Given the description of an element on the screen output the (x, y) to click on. 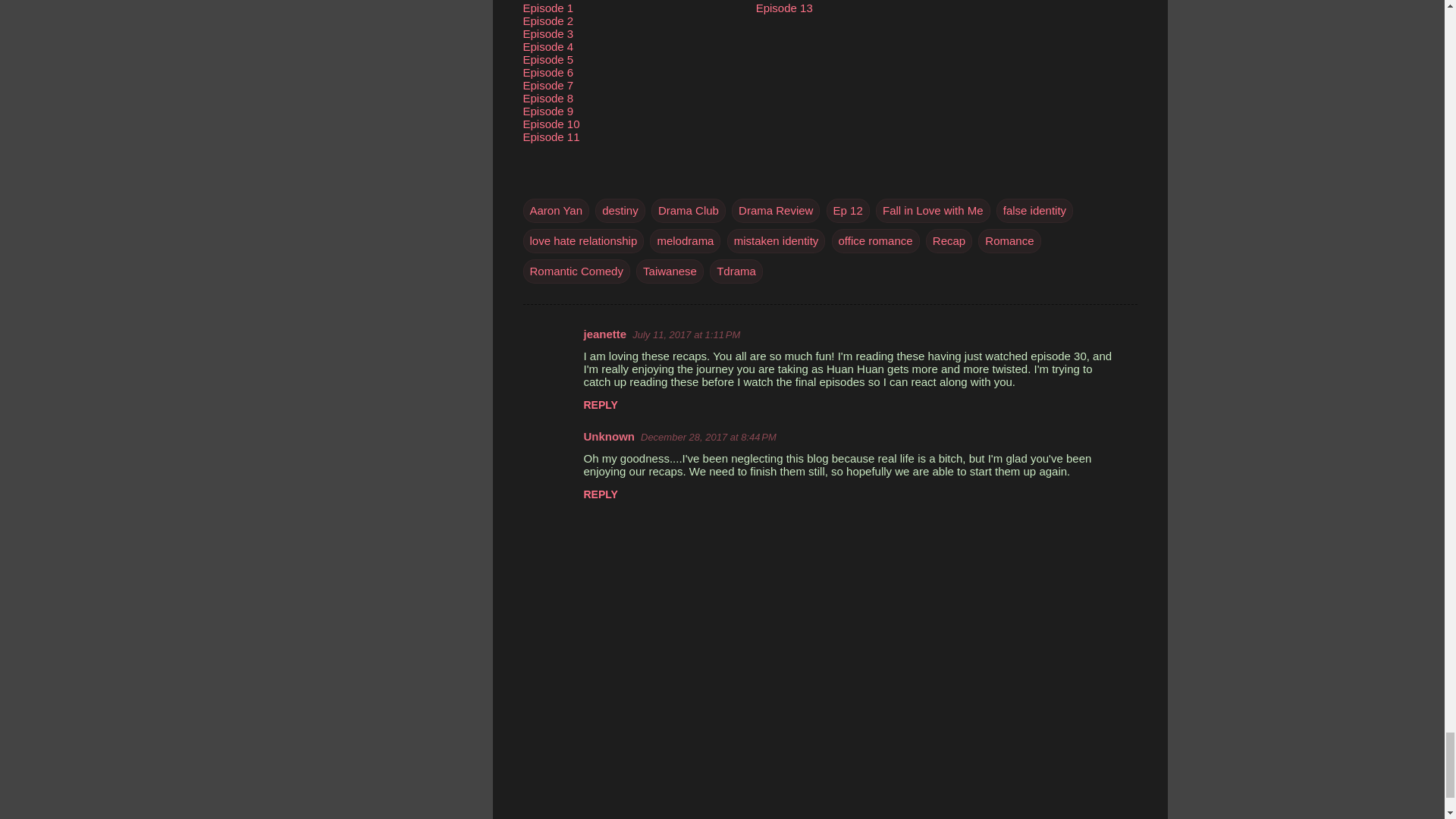
Episode 1 (547, 7)
Episode 4 (547, 46)
Episode 5 (547, 59)
Episode 2 (547, 20)
Episode 3 (547, 33)
